Given the description of an element on the screen output the (x, y) to click on. 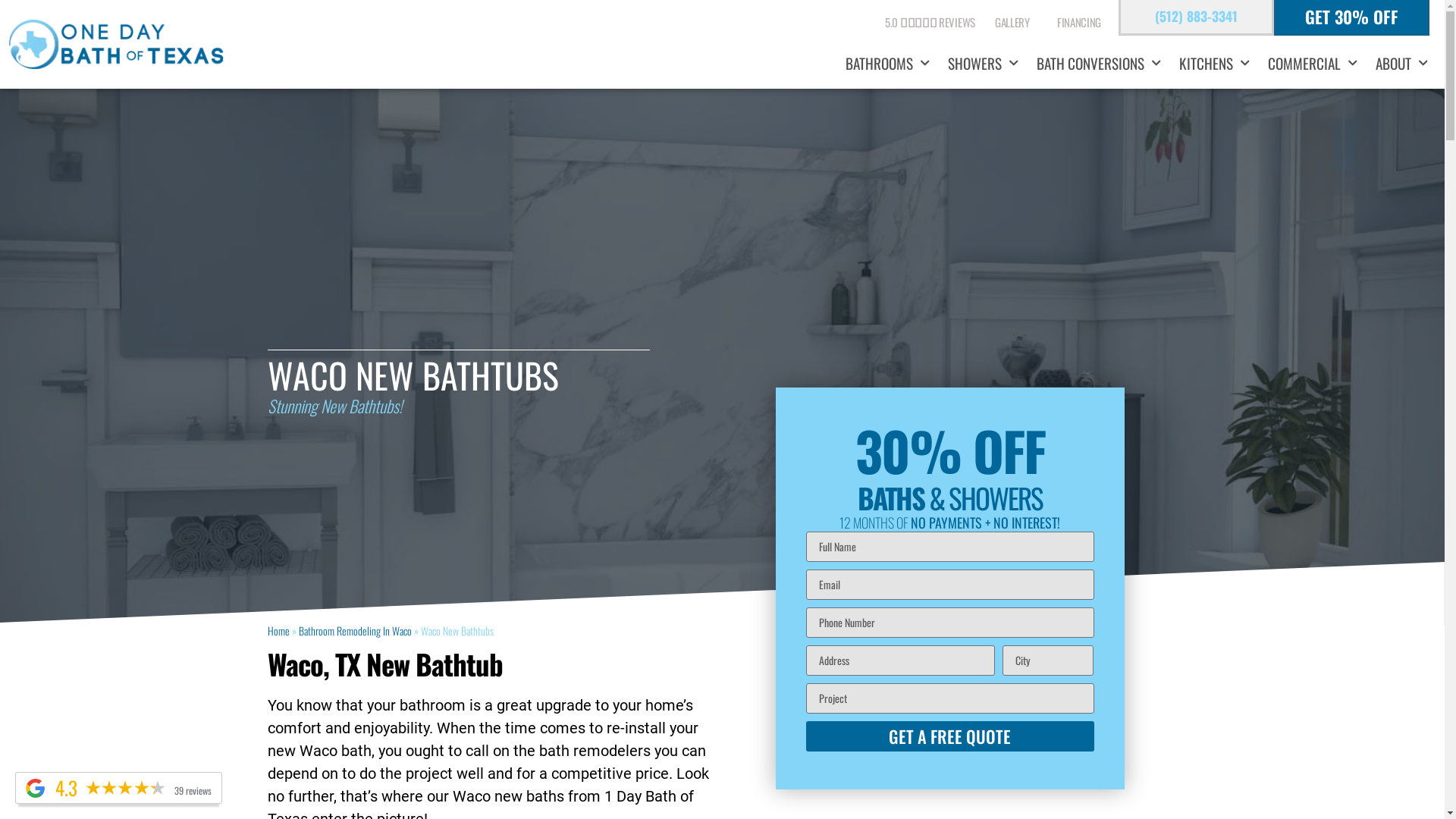
FINANCING Element type: text (1078, 21)
GALLERY Element type: text (1016, 21)
Home Element type: text (277, 630)
GET 30% OFF Element type: text (1351, 15)
Bathroom Remodeling In Waco Element type: text (354, 630)
SHOWERS Element type: text (982, 63)
(512) 883-3341 Element type: text (1195, 15)
ABOUT Element type: text (1401, 63)
Powered by Google Element type: hover (34, 787)
GET A FREE QUOTE Element type: text (949, 736)
BATH CONVERSIONS Element type: text (1098, 63)
COMMERCIAL Element type: text (1312, 63)
BATHROOMS Element type: text (887, 63)
KITCHENS Element type: text (1214, 63)
